Given the description of an element on the screen output the (x, y) to click on. 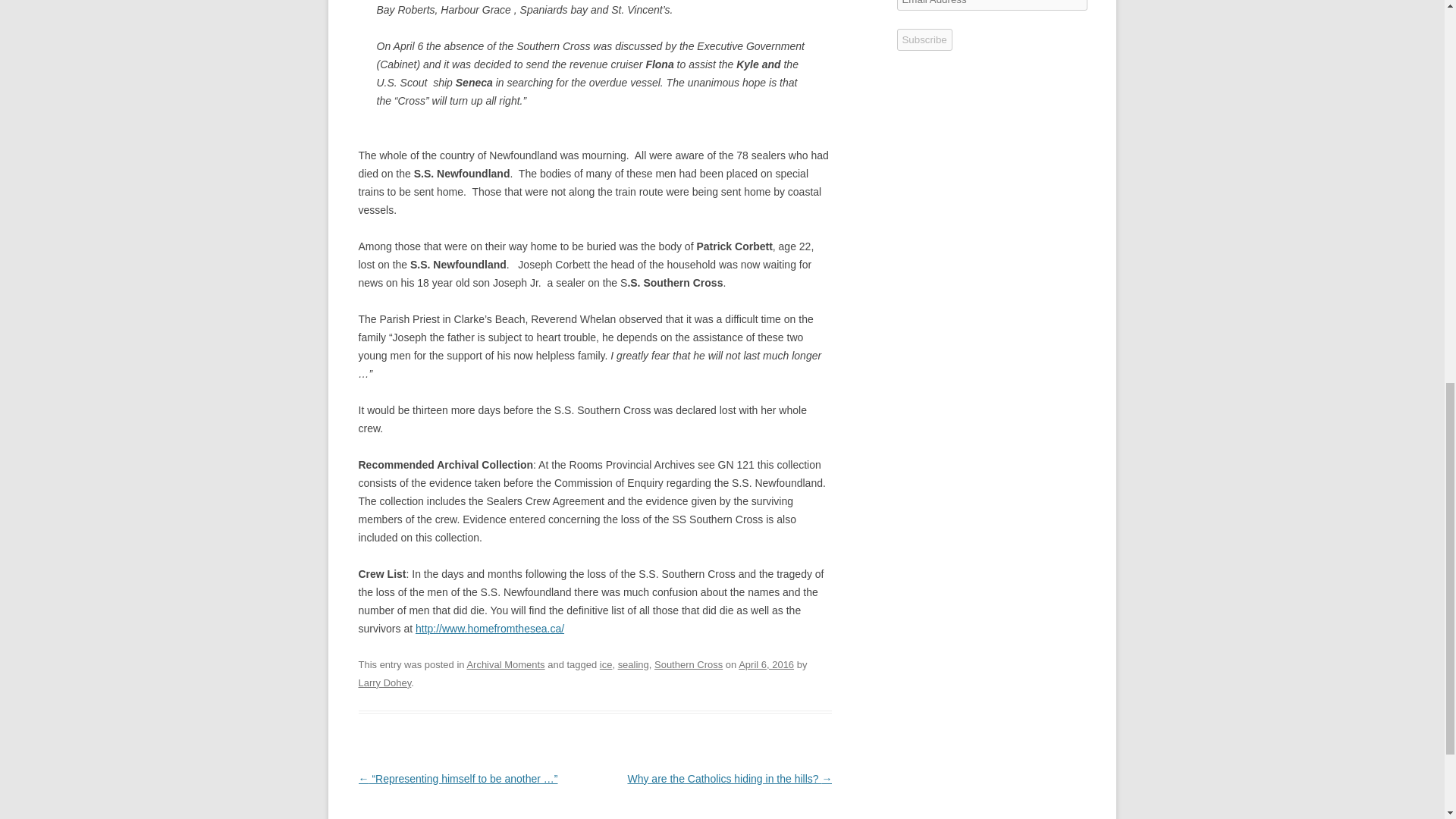
Subscribe (924, 39)
Southern Cross (687, 664)
sealing (633, 664)
ice (605, 664)
Archival Moments (504, 664)
View all posts by Larry Dohey (384, 682)
7:00 am (765, 664)
April 6, 2016 (765, 664)
Larry Dohey (384, 682)
